Given the description of an element on the screen output the (x, y) to click on. 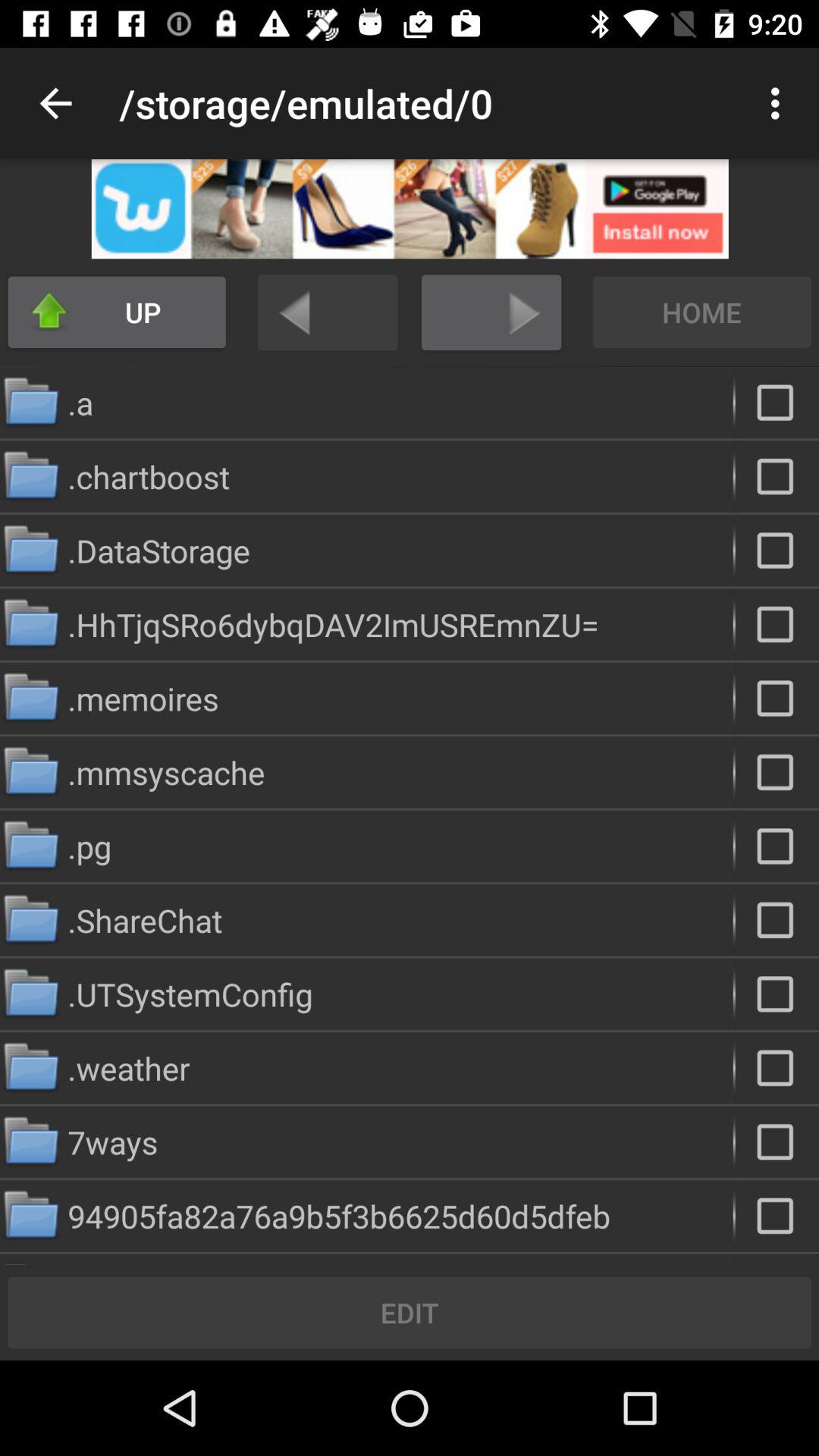
select file (777, 624)
